Given the description of an element on the screen output the (x, y) to click on. 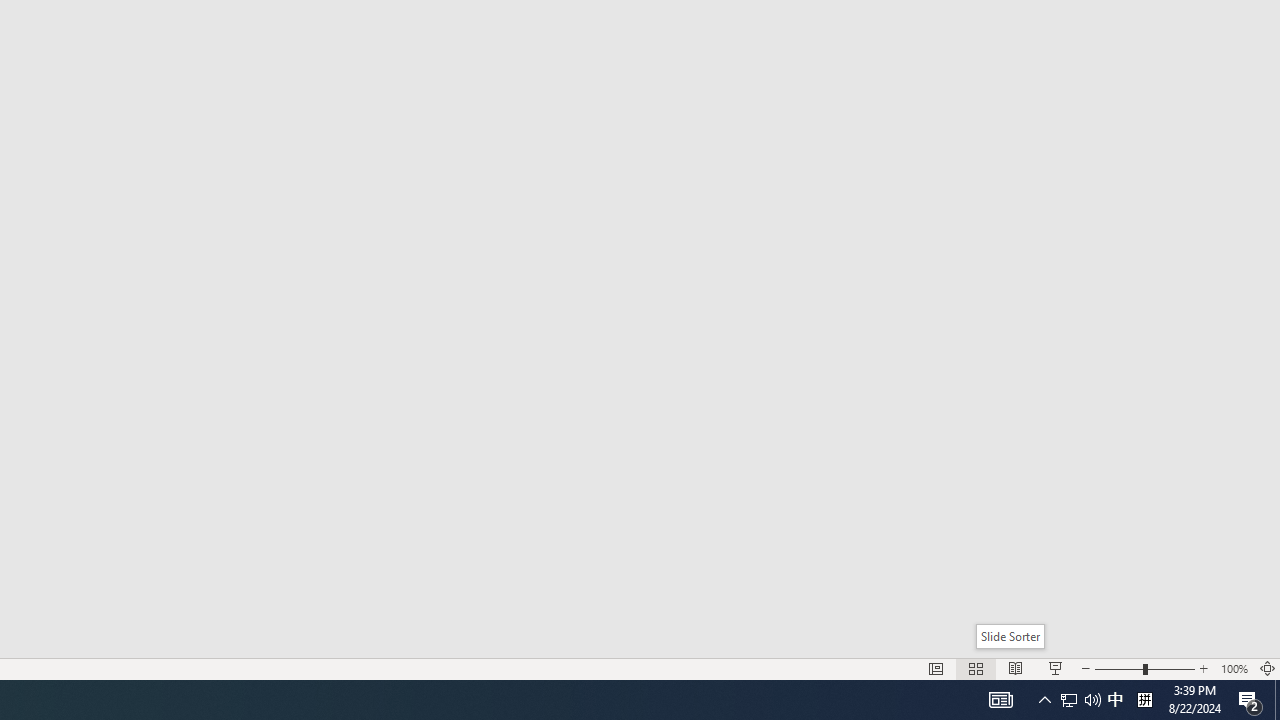
Zoom to Fit  (1267, 668)
Slide Sorter (975, 668)
Zoom (1144, 668)
Normal (936, 668)
Zoom In (1204, 668)
Zoom Out (1118, 668)
Reading View (1015, 668)
Zoom 100% (1234, 668)
Slide Sorter (1009, 636)
